Given the description of an element on the screen output the (x, y) to click on. 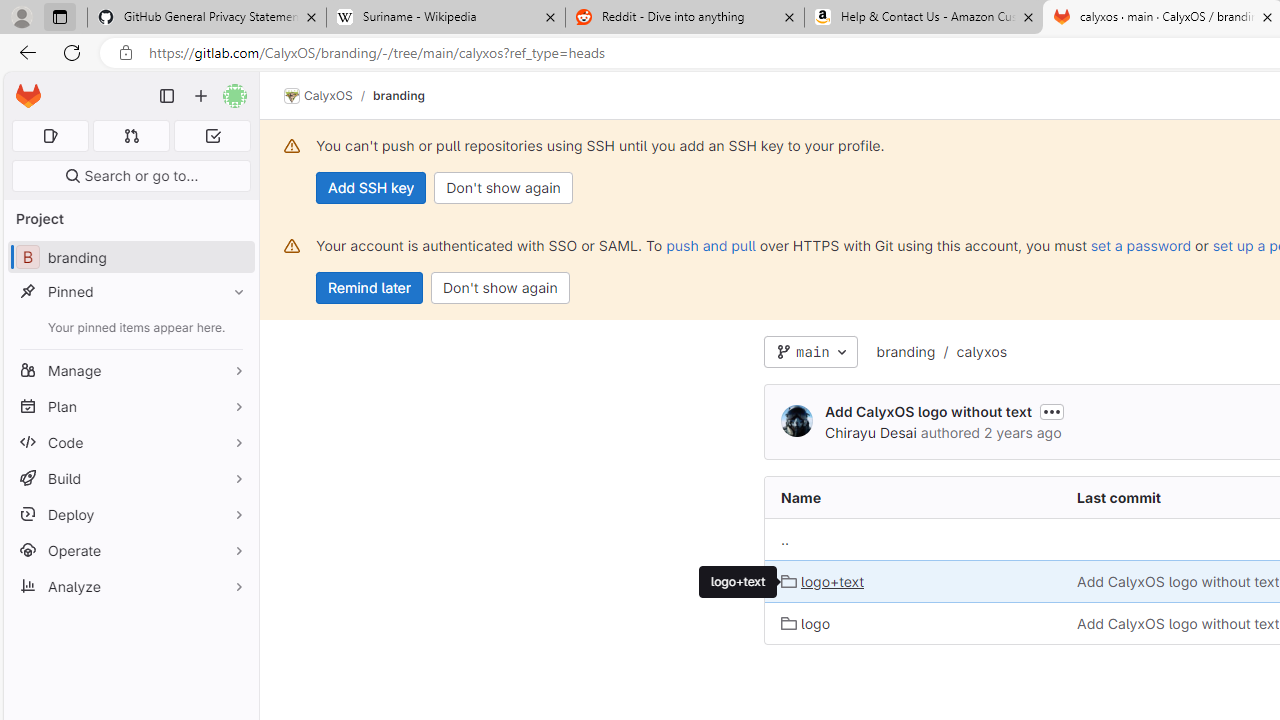
Assigned issues 0 (50, 136)
Chirayu Desai's avatar (796, 421)
Code (130, 442)
Plan (130, 406)
Operate (130, 550)
Analyze (130, 586)
calyxos (982, 351)
push and pull (710, 245)
Primary navigation sidebar (167, 96)
Deploy (130, 514)
main (810, 351)
Merge requests 0 (131, 136)
Reddit - Dive into anything (684, 17)
